Given the description of an element on the screen output the (x, y) to click on. 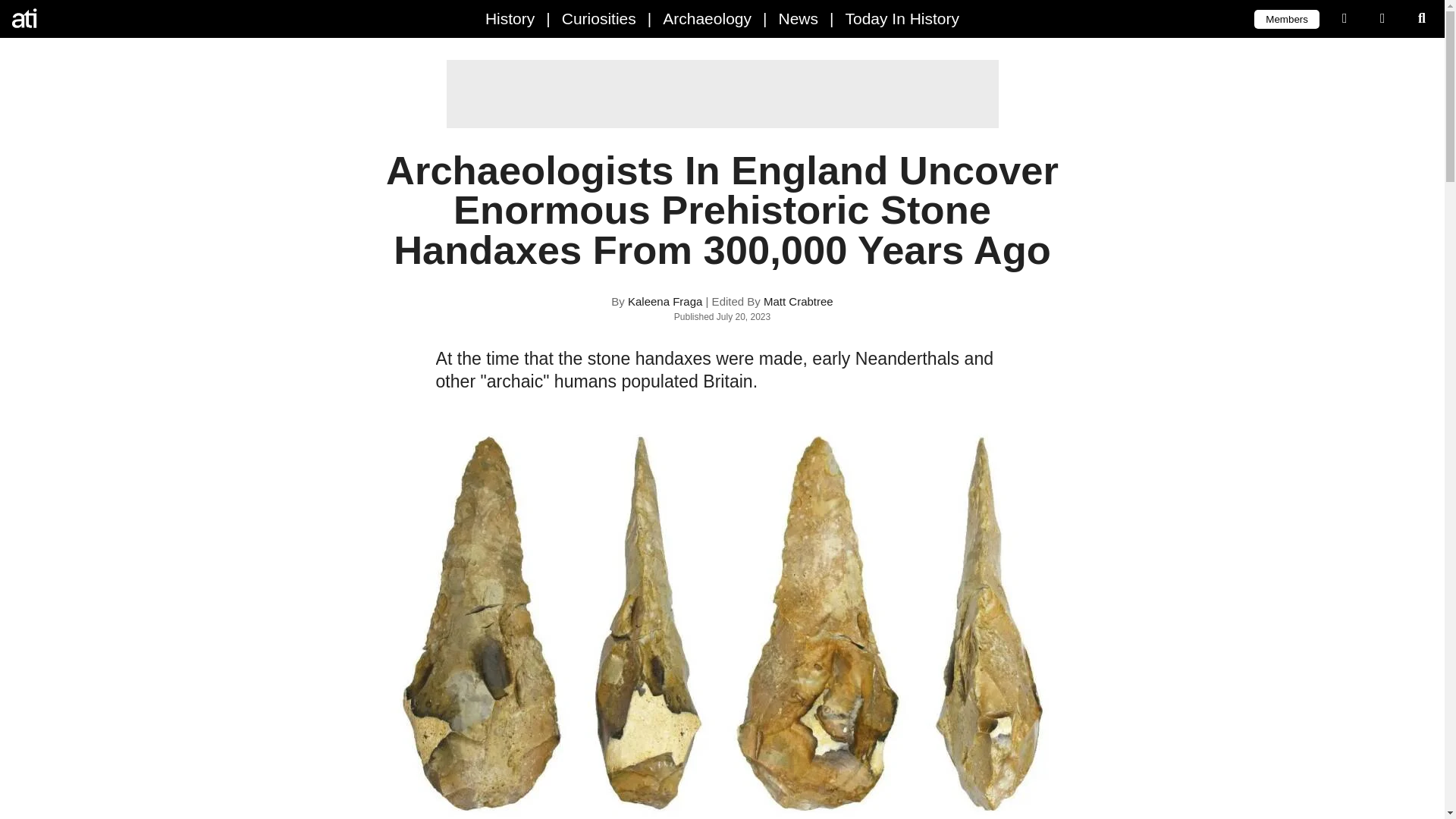
Kaleena Fraga (664, 300)
Archaeology (706, 18)
Matt Crabtree (797, 300)
News (798, 18)
Curiosities (598, 18)
All That's Interesting (75, 18)
History (510, 18)
Today In History (901, 18)
Members (1286, 18)
